Given the description of an element on the screen output the (x, y) to click on. 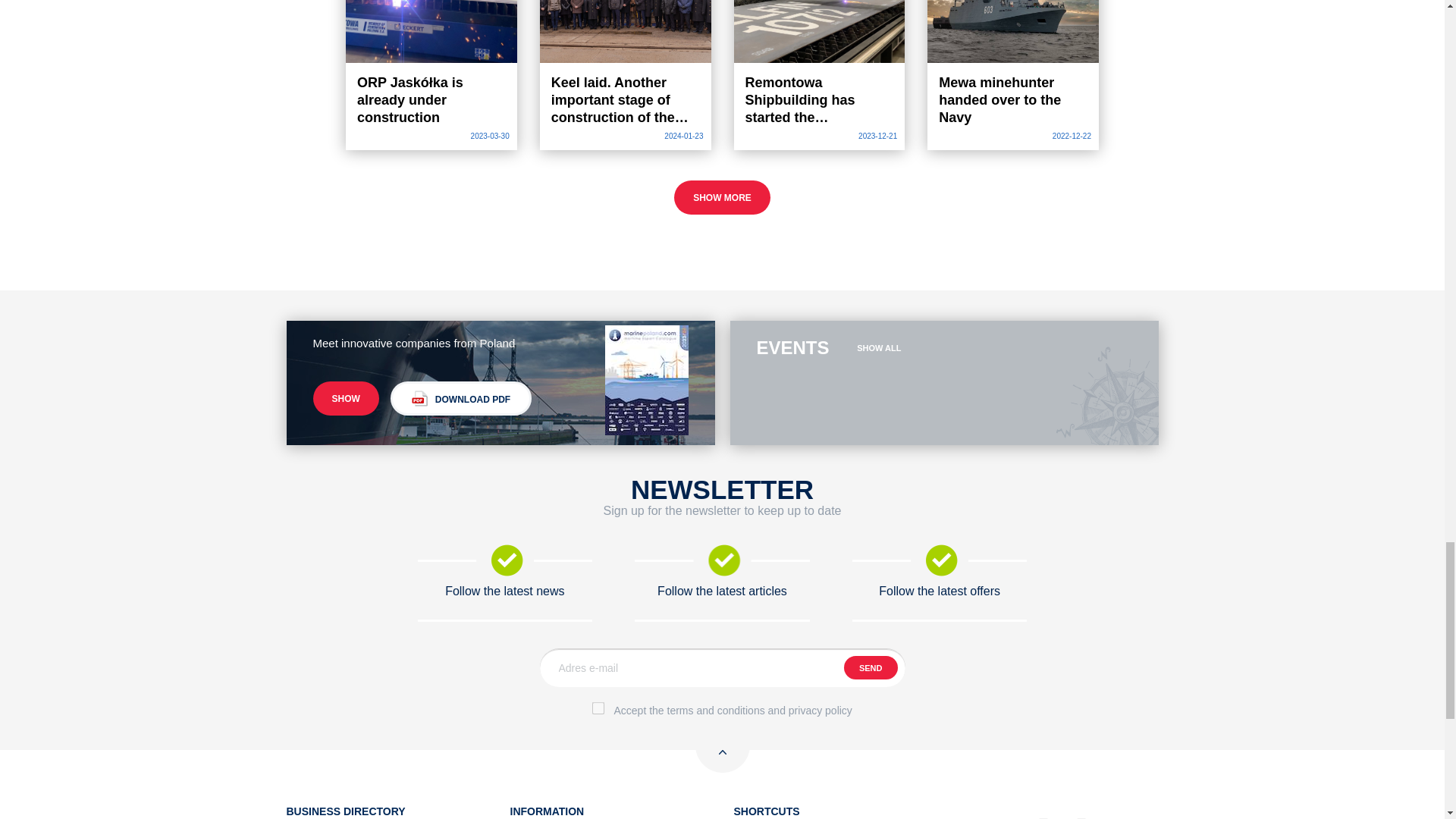
SHOW (345, 398)
DOWNLOAD PDF (460, 398)
SHOW MORE (722, 197)
on (598, 707)
SHOW ALL (879, 347)
